Given the description of an element on the screen output the (x, y) to click on. 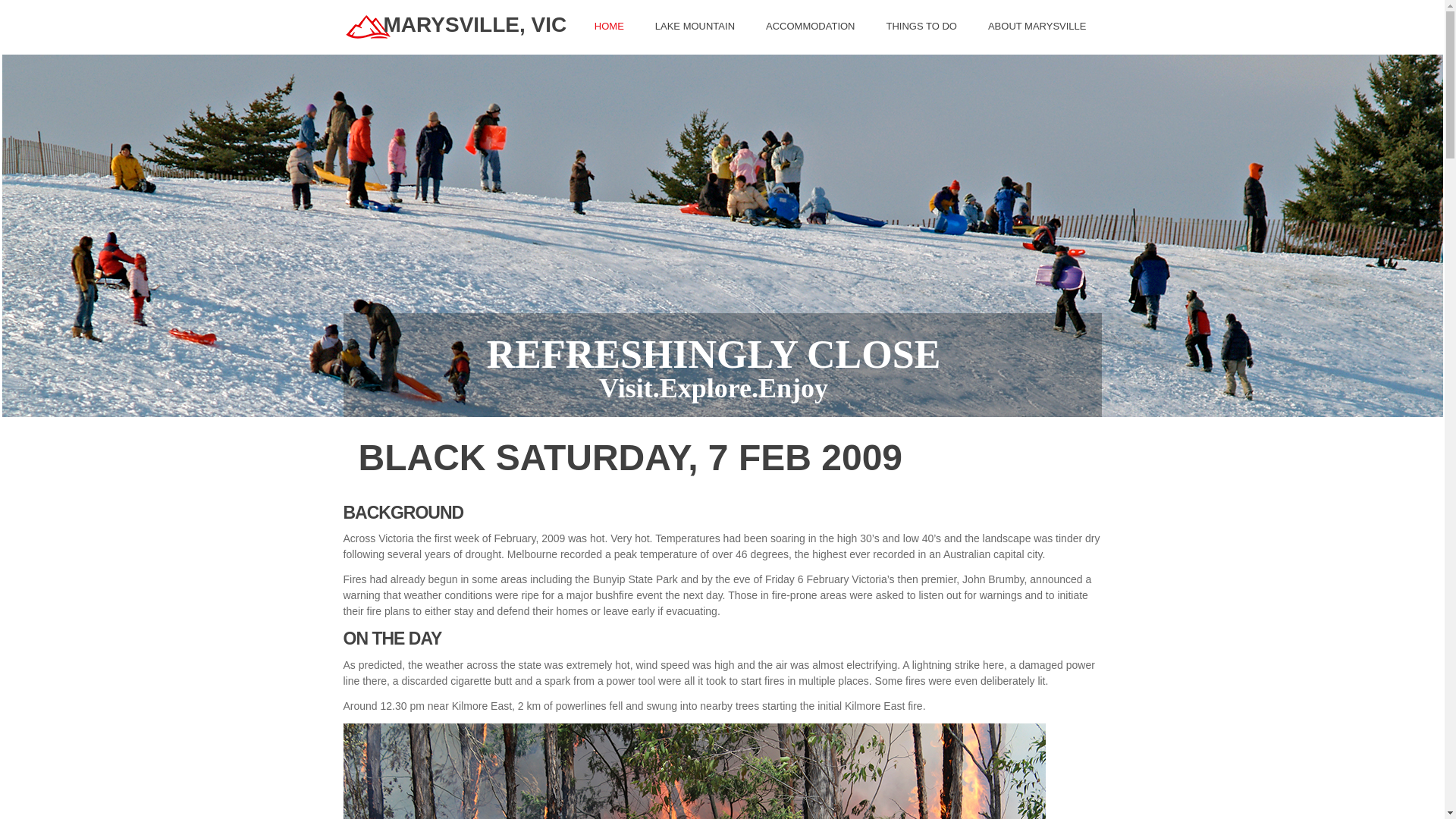
THINGS TO DO Element type: text (921, 26)
ABOUT MARYSVILLE Element type: text (1037, 26)
HOME Element type: text (609, 26)
MARYSVILLE, VIC Element type: text (475, 23)
LAKE MOUNTAIN Element type: text (694, 26)
ACCOMMODATION Element type: text (810, 26)
